Given the description of an element on the screen output the (x, y) to click on. 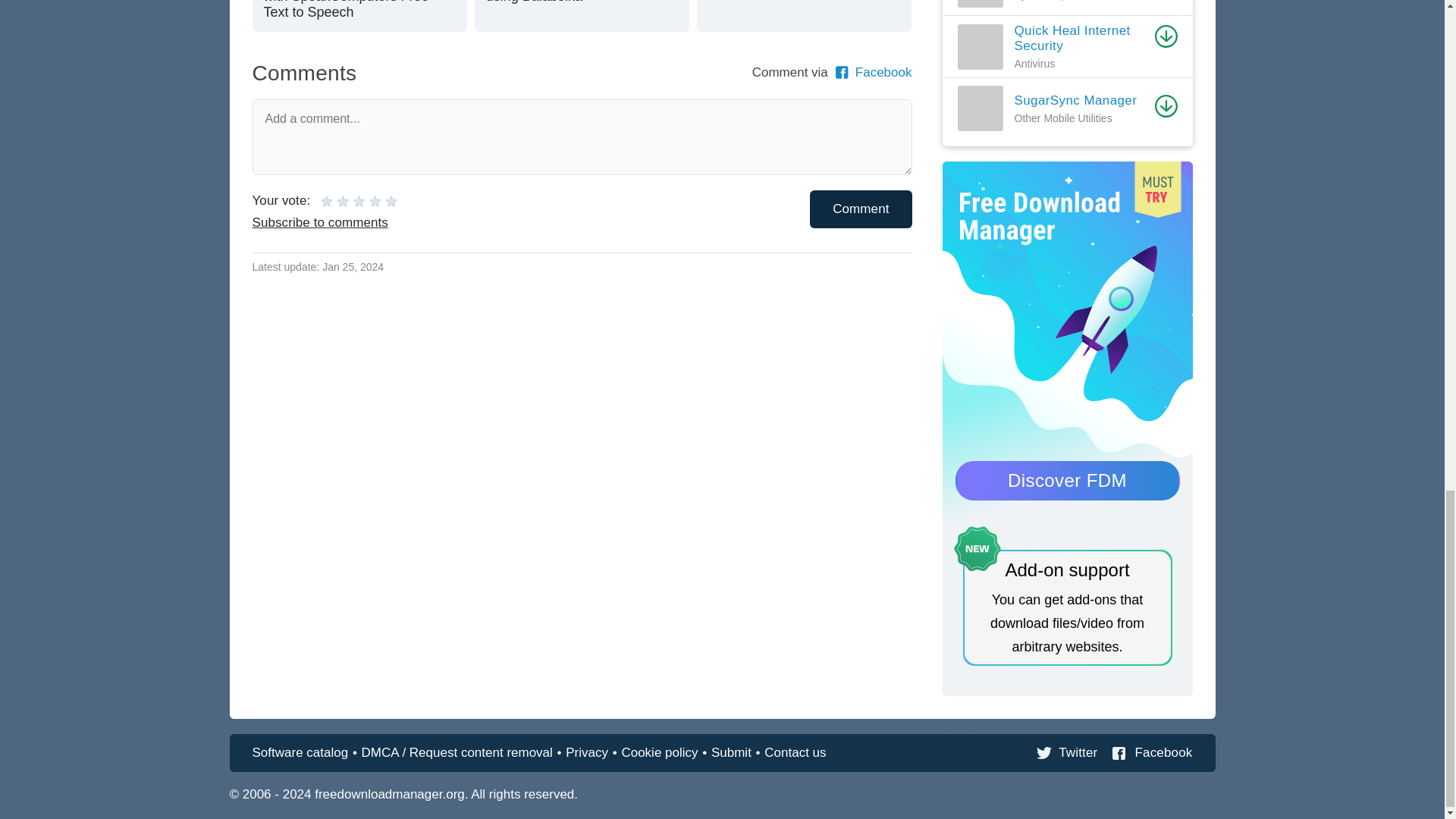
Comment (860, 209)
4 (351, 200)
1 (326, 200)
5 (358, 200)
3 (343, 200)
2 (334, 200)
Comment (581, 15)
